Given the description of an element on the screen output the (x, y) to click on. 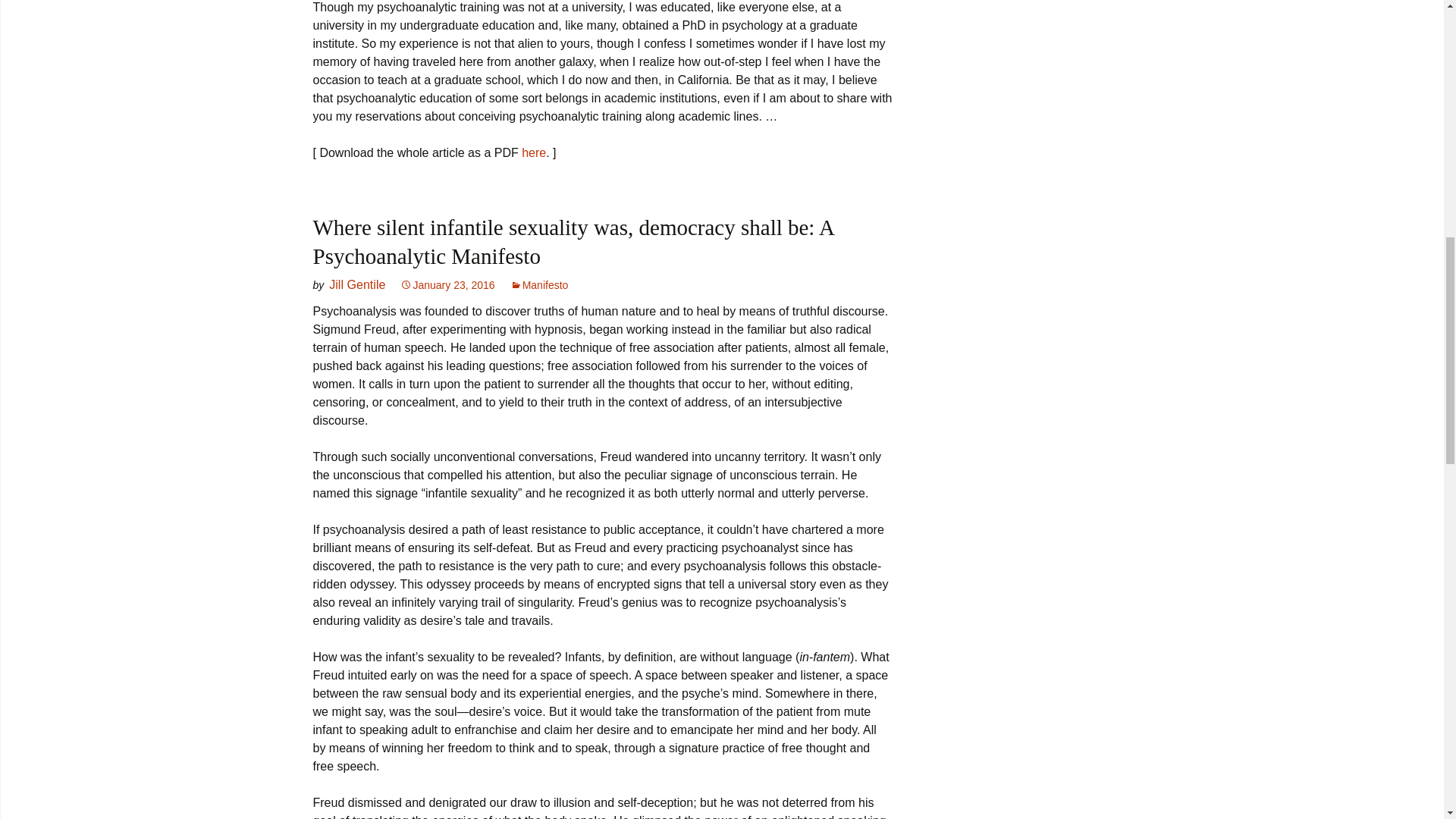
here (533, 152)
View all posts by Jill Gentile (357, 284)
January 23, 2016 (447, 285)
Page 1 (602, 81)
Manifesto (540, 285)
Jill Gentile (357, 284)
